Given the description of an element on the screen output the (x, y) to click on. 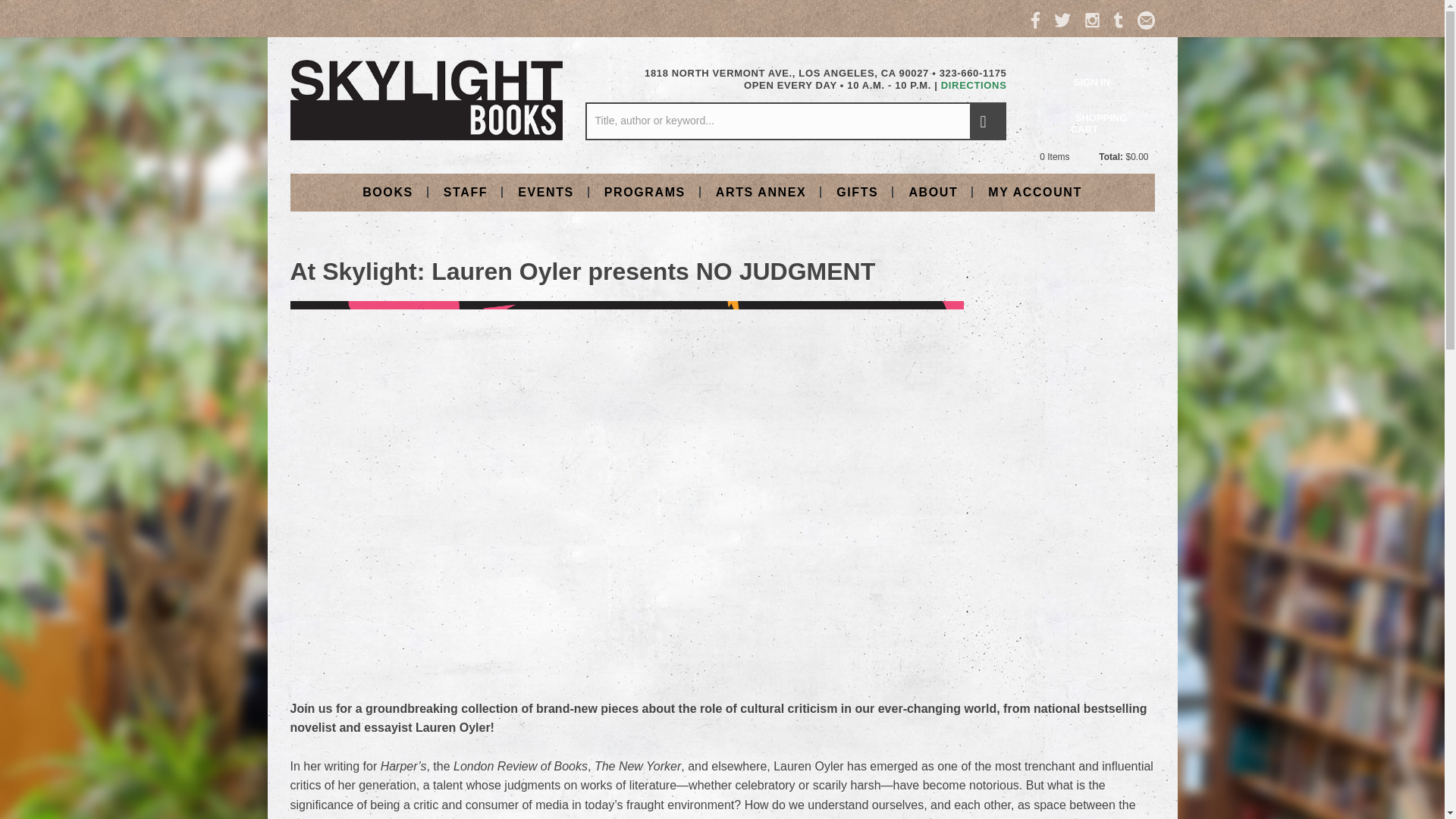
BOOKS (387, 191)
SHOPPING CART (1091, 123)
SIGN IN (1091, 81)
PROGRAMS (644, 191)
Title, author or keyword... (795, 121)
GIFTS (857, 191)
STAFF (465, 191)
search (987, 121)
ARTS ANNEX (760, 191)
Home (425, 98)
DIRECTIONS (973, 84)
search (987, 121)
EVENTS (545, 191)
